Given the description of an element on the screen output the (x, y) to click on. 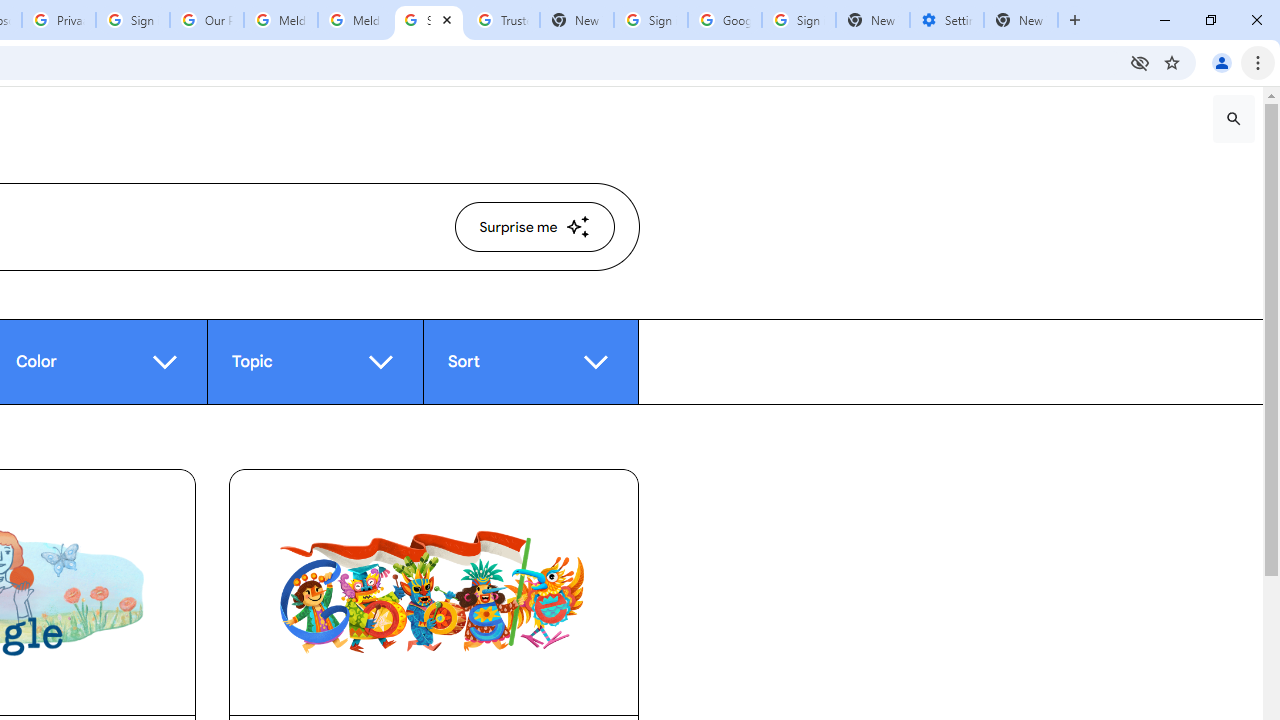
Indonesia Independence Day 2024 (433, 592)
New Tab (1021, 20)
Google Cybersecurity Innovations - Google Safety Center (724, 20)
Topic (314, 361)
Sort (530, 361)
